Given the description of an element on the screen output the (x, y) to click on. 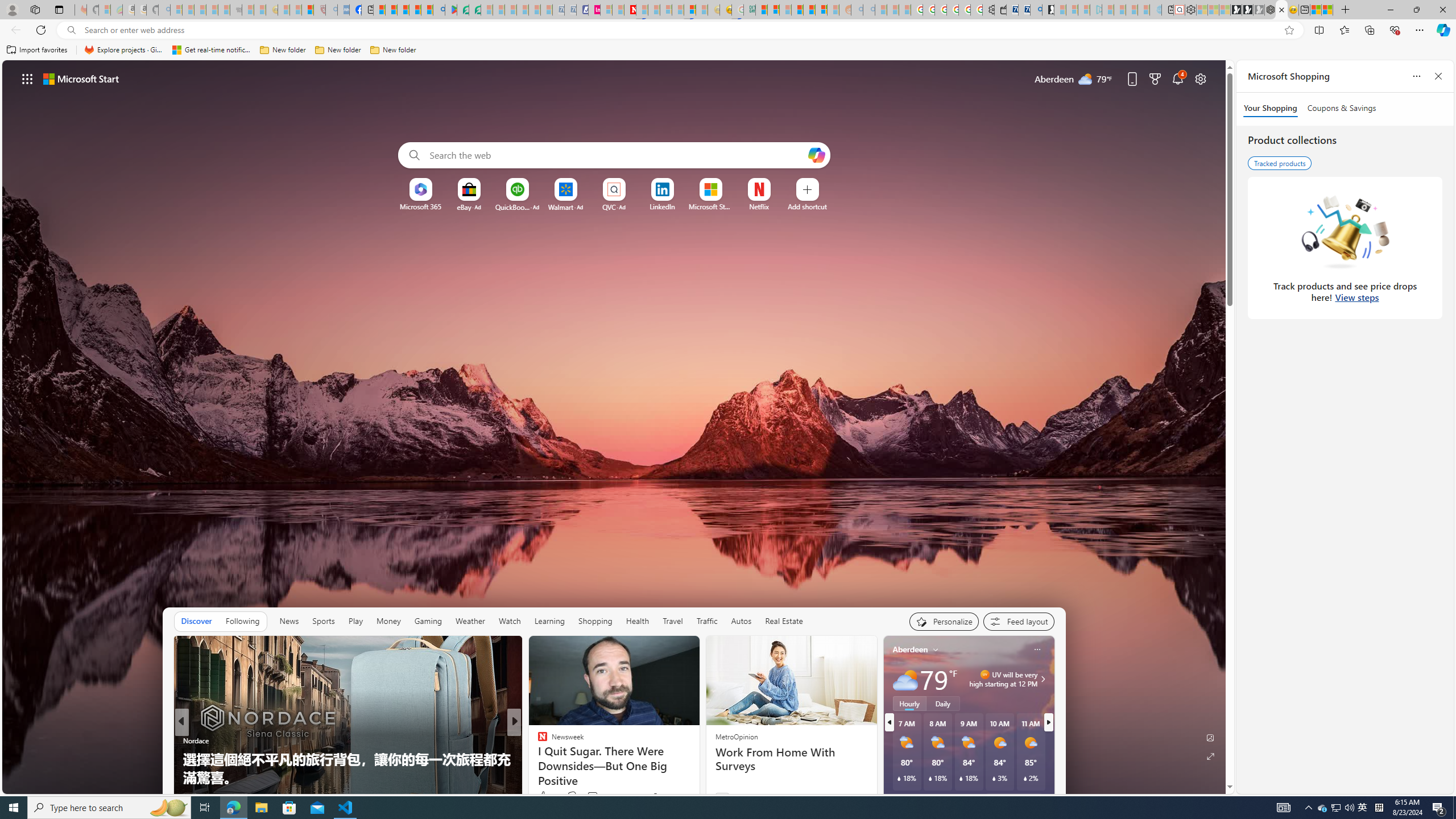
72 Like (543, 796)
View comments 96 Comment (588, 797)
Terms of Use Agreement (462, 9)
Sports (323, 621)
New folder (392, 49)
